Given the description of an element on the screen output the (x, y) to click on. 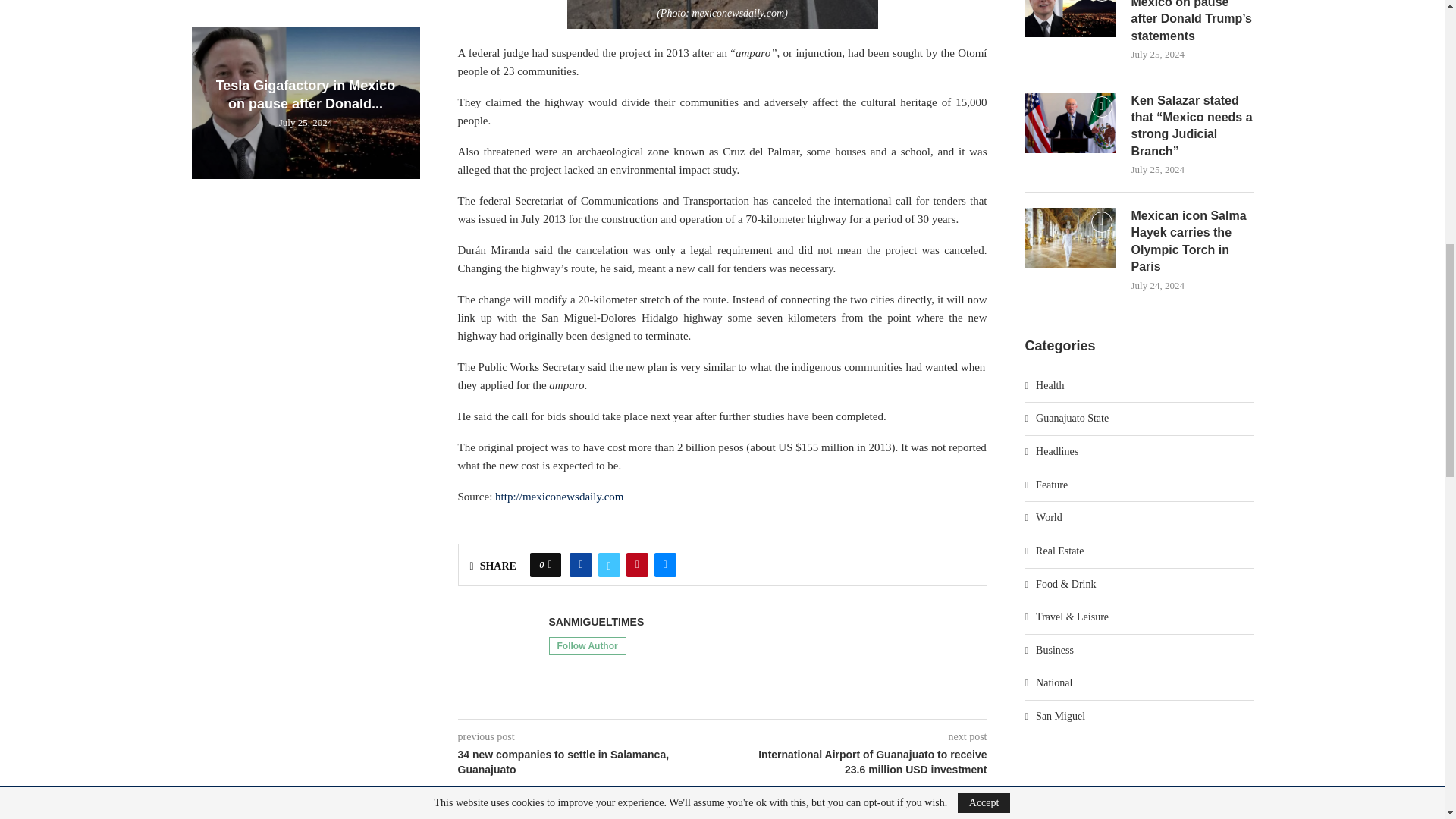
Author sanmigueltimes (596, 622)
